Given the description of an element on the screen output the (x, y) to click on. 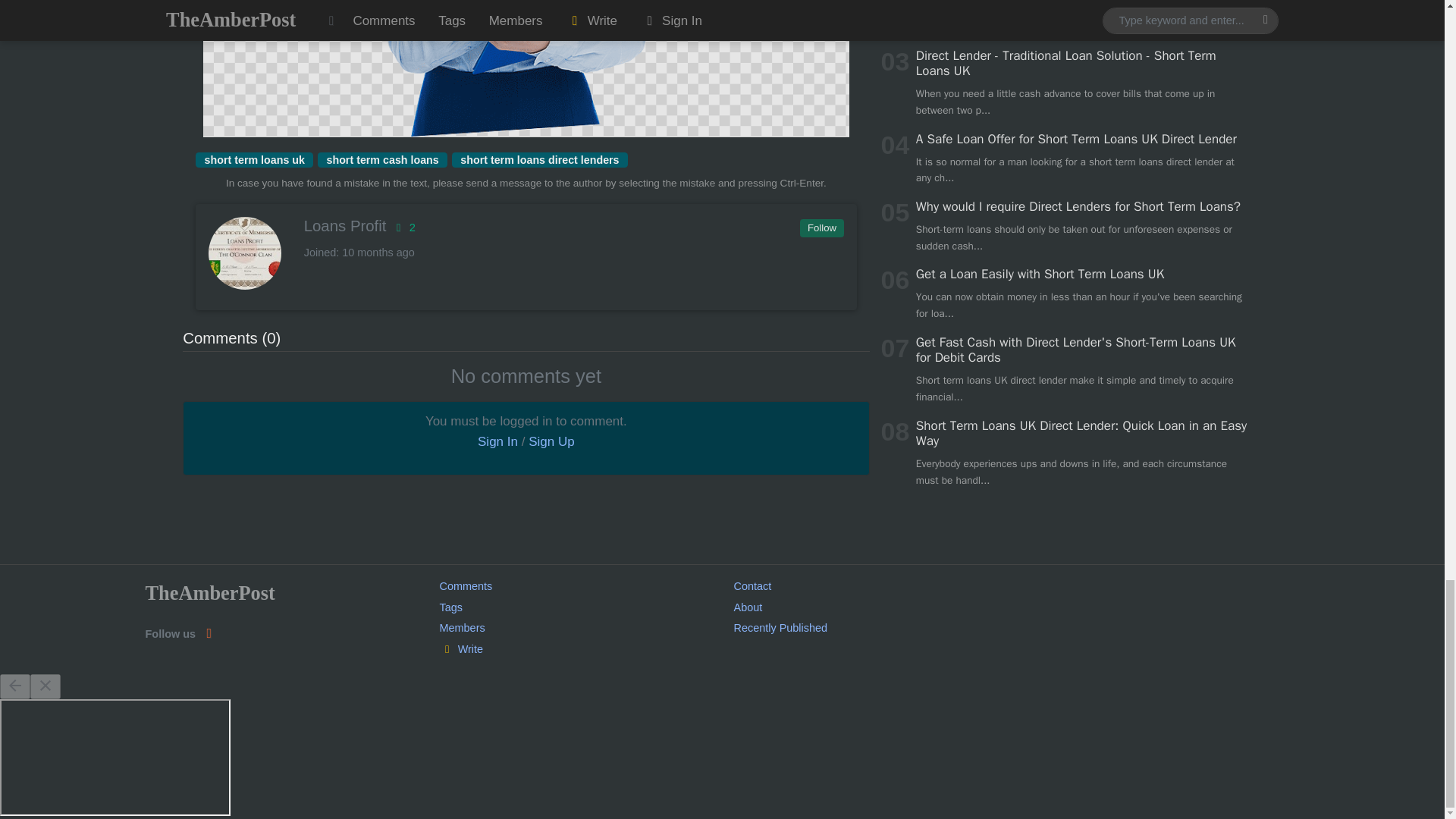
Sign Up (550, 441)
Rating (402, 227)
Sign In (497, 441)
short term cash loans (381, 159)
short term cash loans (381, 159)
short term loans uk (254, 159)
Follow (821, 228)
short term loans direct lenders (539, 159)
short term loans direct lenders (539, 159)
Loans Profit 2 (525, 226)
short term loans uk (254, 159)
